Given the description of an element on the screen output the (x, y) to click on. 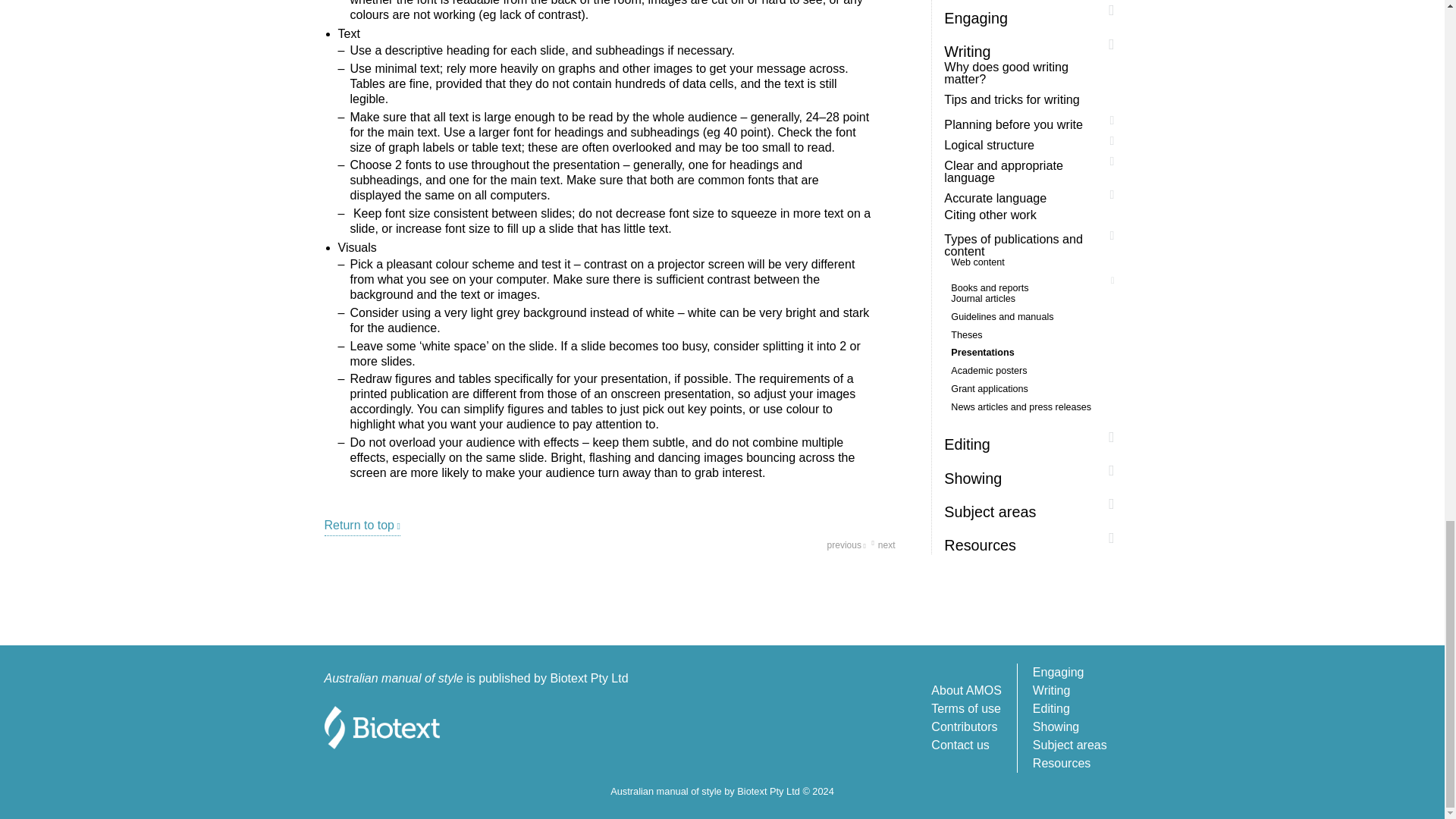
previous (846, 545)
Biotext logo (386, 729)
next (880, 545)
Go to previous page (846, 545)
Return to top (362, 526)
Go to next page (880, 545)
